Given the description of an element on the screen output the (x, y) to click on. 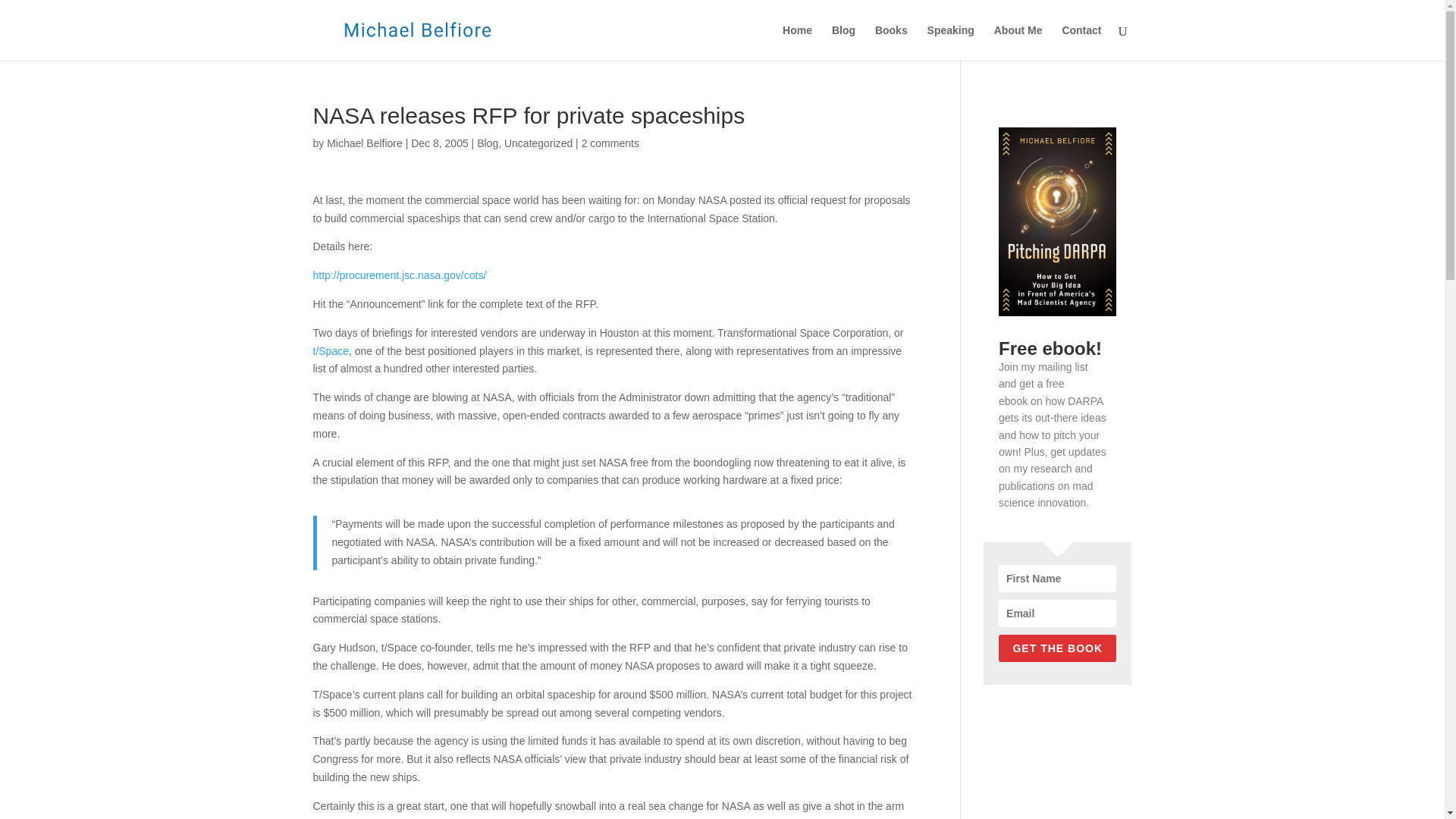
GET THE BOOK (1057, 647)
Speaking (950, 42)
Posts by Michael Belfiore (364, 143)
2 comments (609, 143)
Books (891, 42)
Uncategorized (537, 143)
Contact (1080, 42)
About Me (1018, 42)
Blog (487, 143)
Michael Belfiore (364, 143)
